Given the description of an element on the screen output the (x, y) to click on. 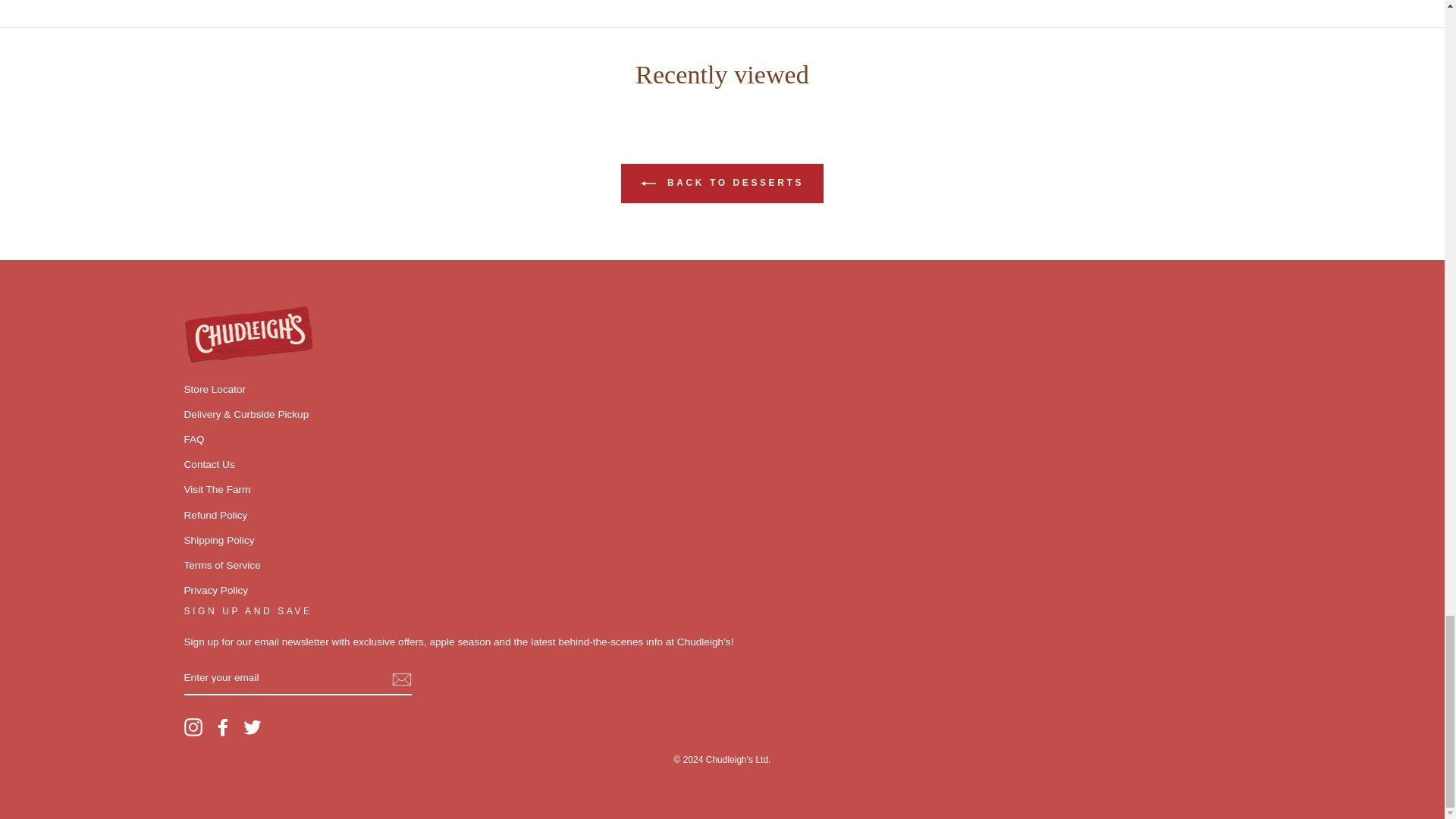
Chudleigh's  on Twitter (251, 727)
Chudleigh's  on Facebook (222, 727)
Chudleigh's  on Instagram (192, 727)
